Given the description of an element on the screen output the (x, y) to click on. 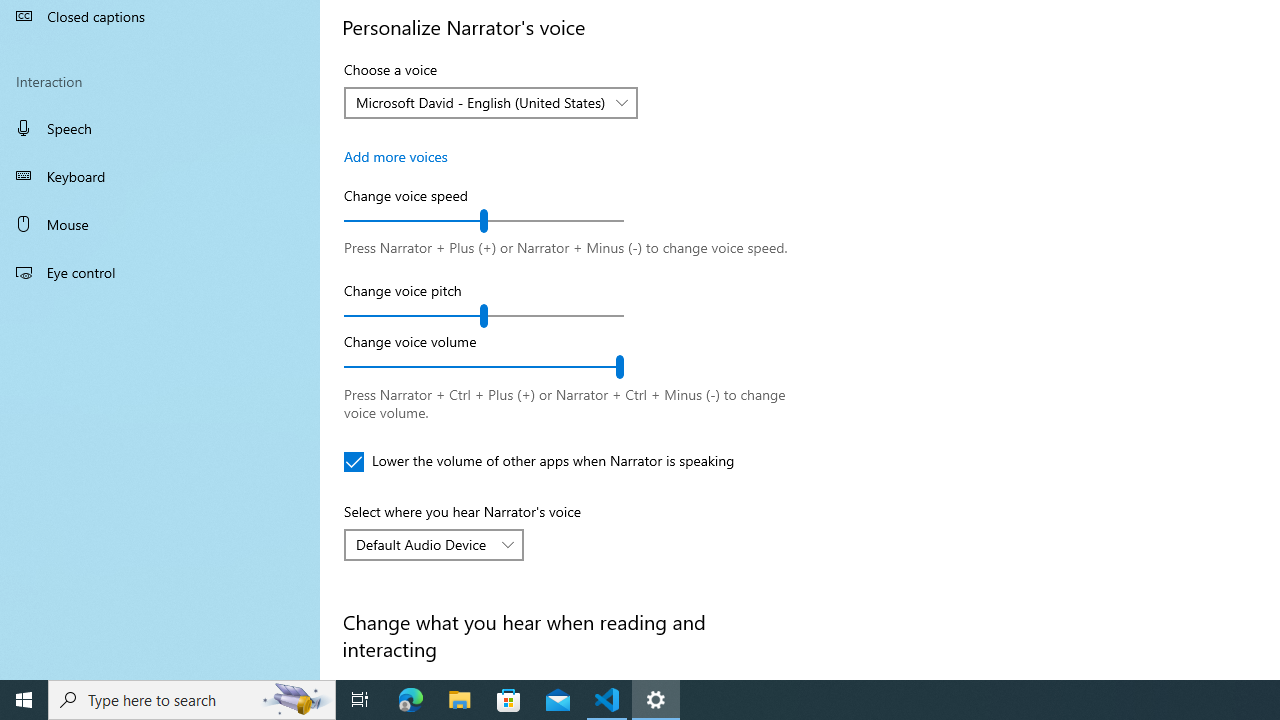
Select where you hear Narrator's voice (433, 544)
Microsoft David - English (United States) (480, 102)
Settings - 1 running window (656, 699)
Keyboard (160, 175)
Eye control (160, 271)
Change voice speed (484, 220)
Choose a voice (490, 102)
Add more voices (396, 156)
